Given the description of an element on the screen output the (x, y) to click on. 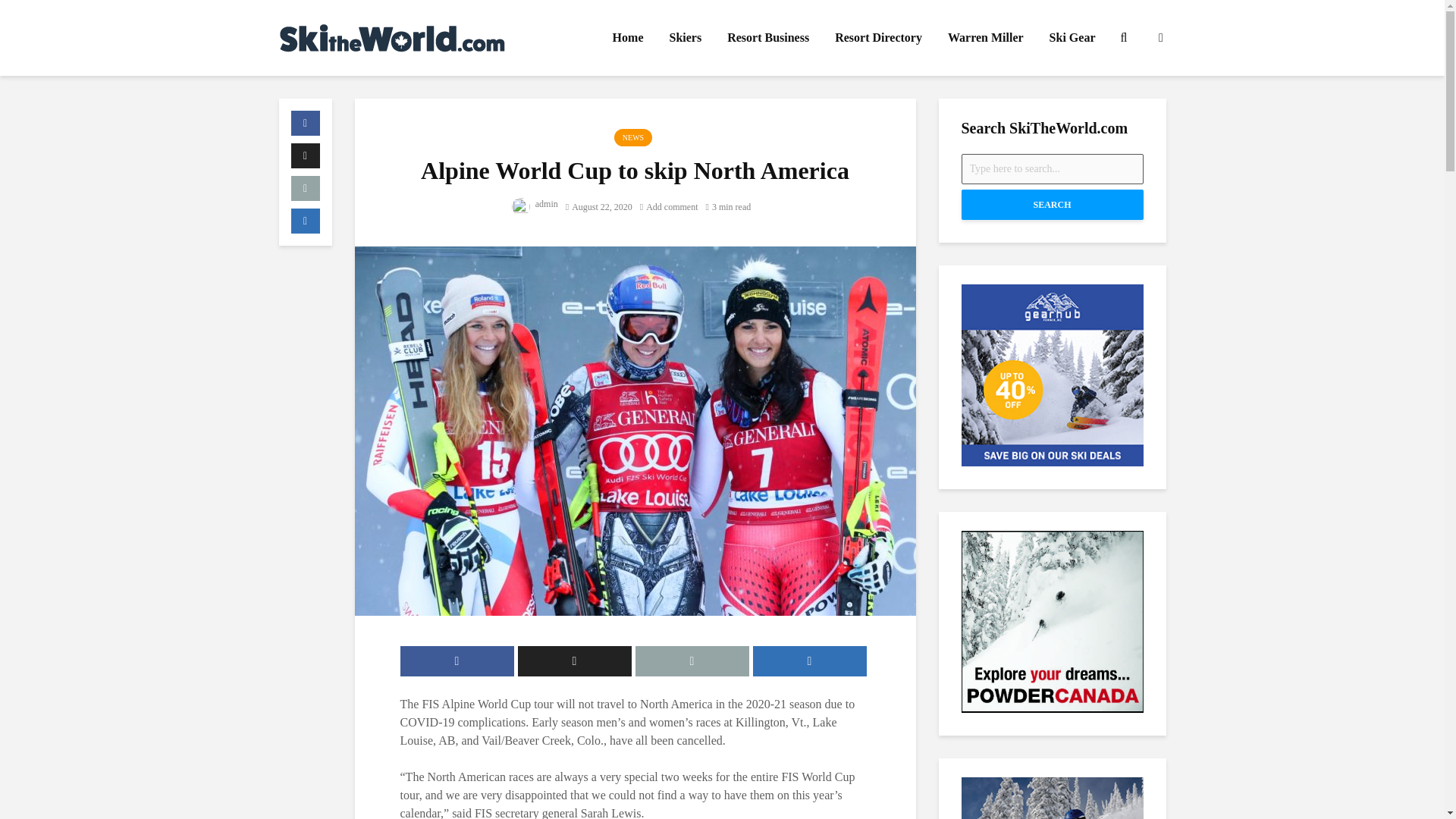
Skiers (685, 37)
Resort Business (768, 37)
Warren Miller (985, 37)
Home (628, 37)
Resort Directory (878, 37)
Ski Gear (1072, 37)
